Given the description of an element on the screen output the (x, y) to click on. 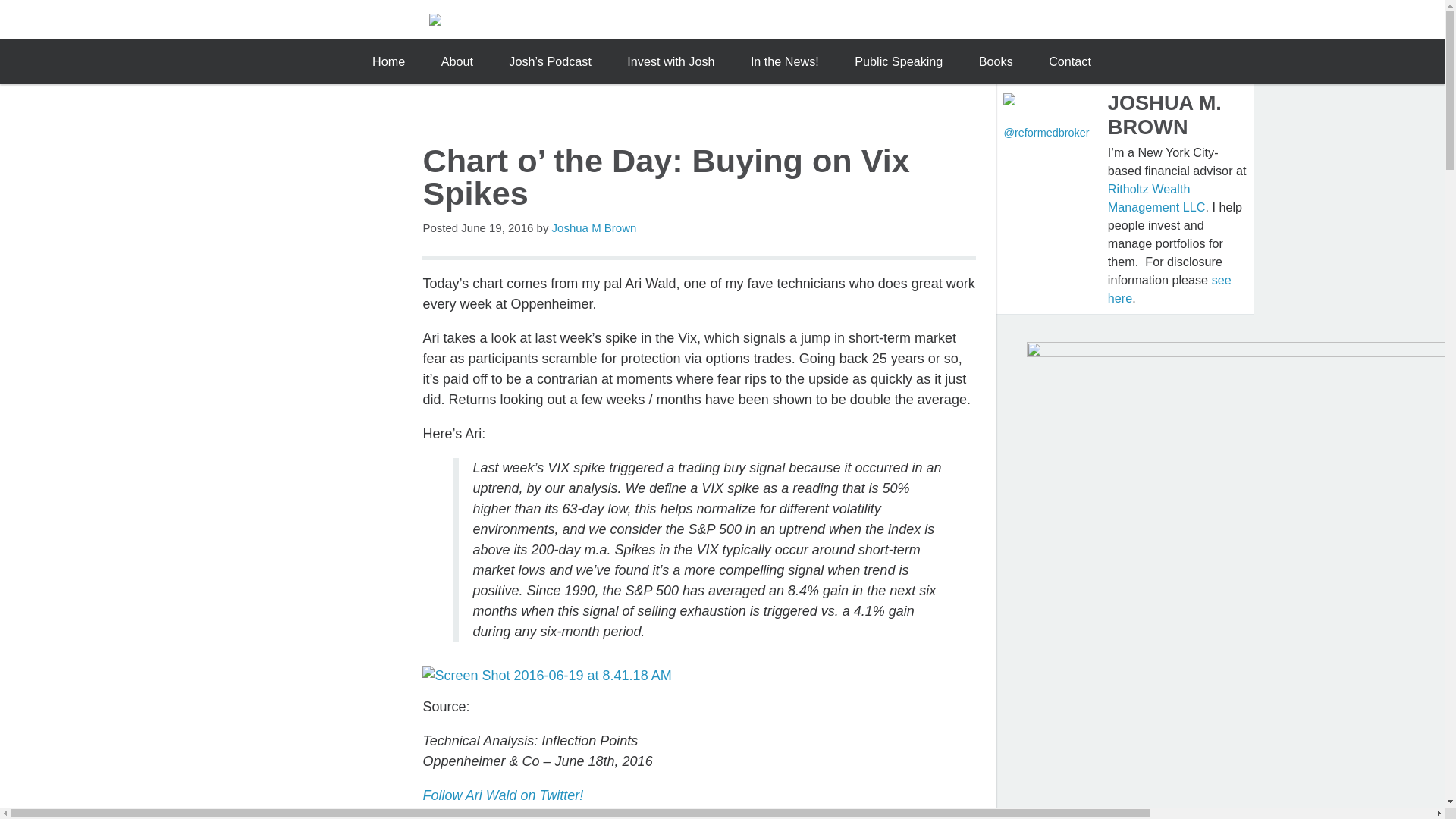
Contact (1069, 61)
Books (995, 61)
Invest with Josh (670, 61)
In the News! (784, 61)
Joshua M Brown (594, 227)
Follow Ari Wald on Twitter! (502, 795)
About (456, 61)
Public Speaking (899, 61)
Home (388, 61)
Posts by Joshua M Brown (594, 227)
